Given the description of an element on the screen output the (x, y) to click on. 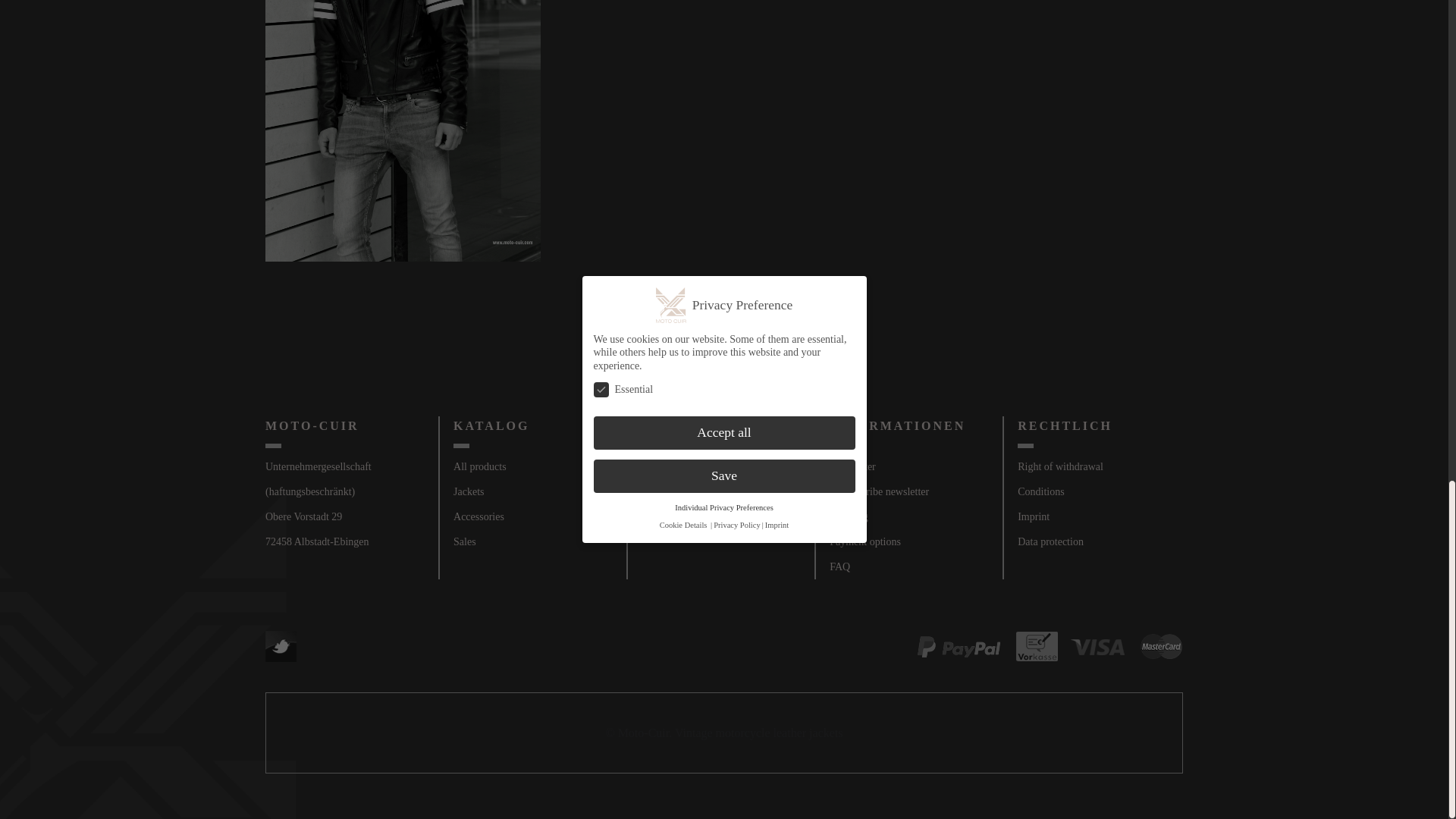
Sales (464, 541)
Contact (658, 516)
Brand story (666, 466)
72458 Albstadt-Ebingen (316, 541)
Obere Vorstadt 29 (303, 516)
For Dealer (664, 491)
Shipping (848, 516)
Unternehmergesellschaft (317, 466)
Unsubscribe newsletter (878, 491)
Accessories (477, 516)
Newsletter (852, 466)
Jackets (467, 491)
All products (479, 466)
